Given the description of an element on the screen output the (x, y) to click on. 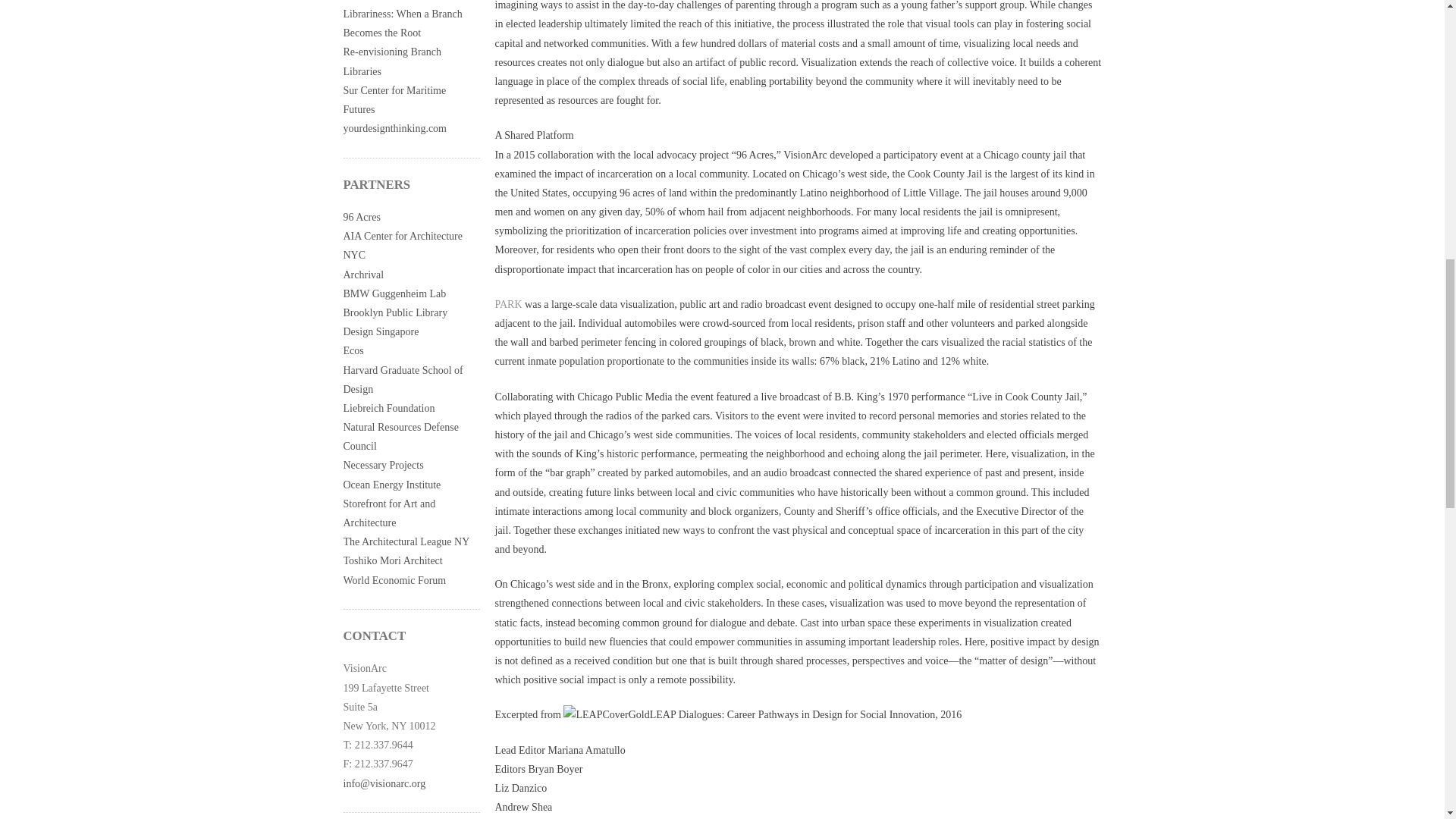
Librariness: When a Branch Becomes the Root (401, 23)
PARK (508, 304)
Re-envisioning Branch Libraries (391, 60)
PARK: 96 Acres (377, 0)
